Given the description of an element on the screen output the (x, y) to click on. 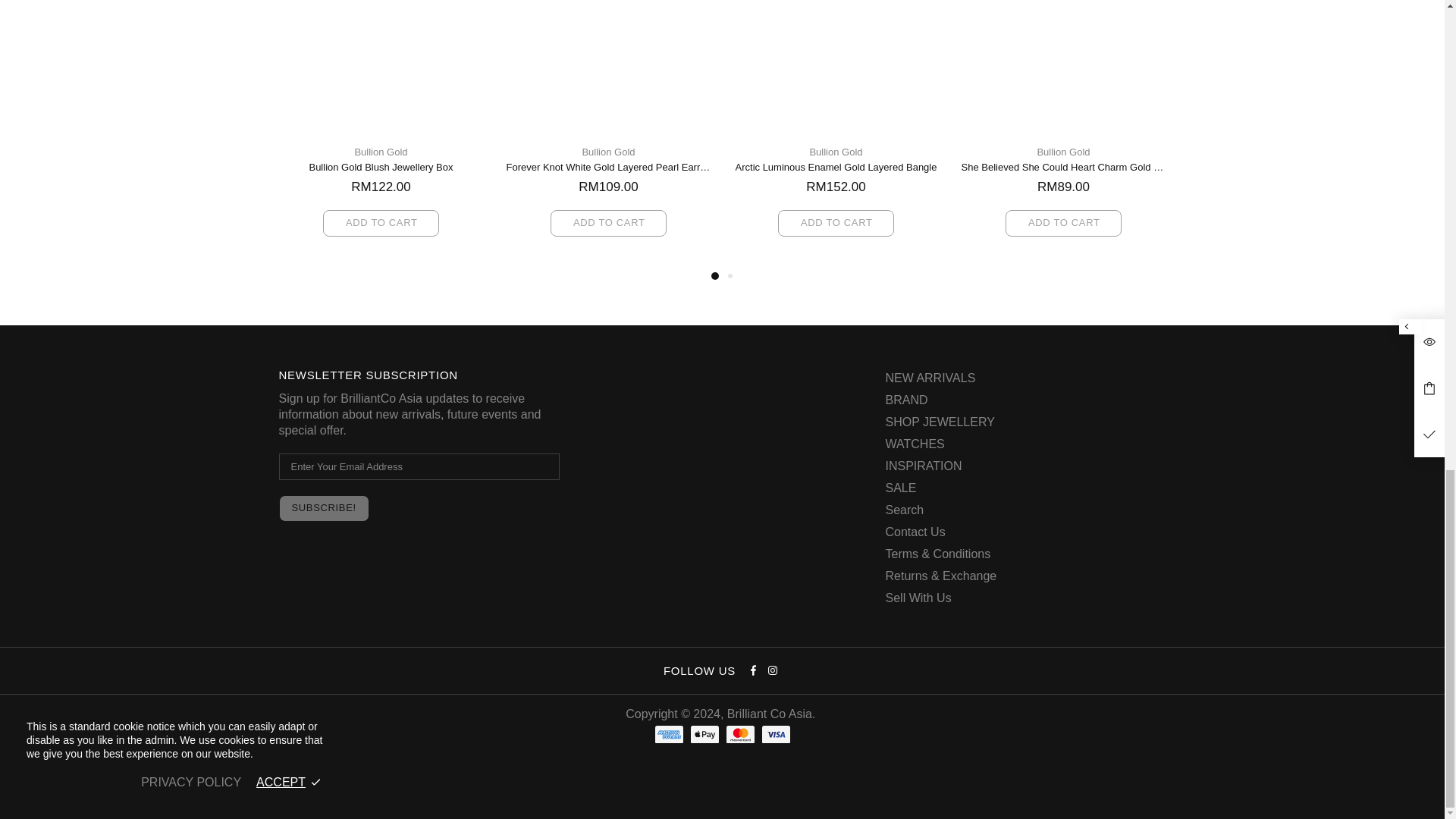
SUBSCRIBE! (324, 508)
